Given the description of an element on the screen output the (x, y) to click on. 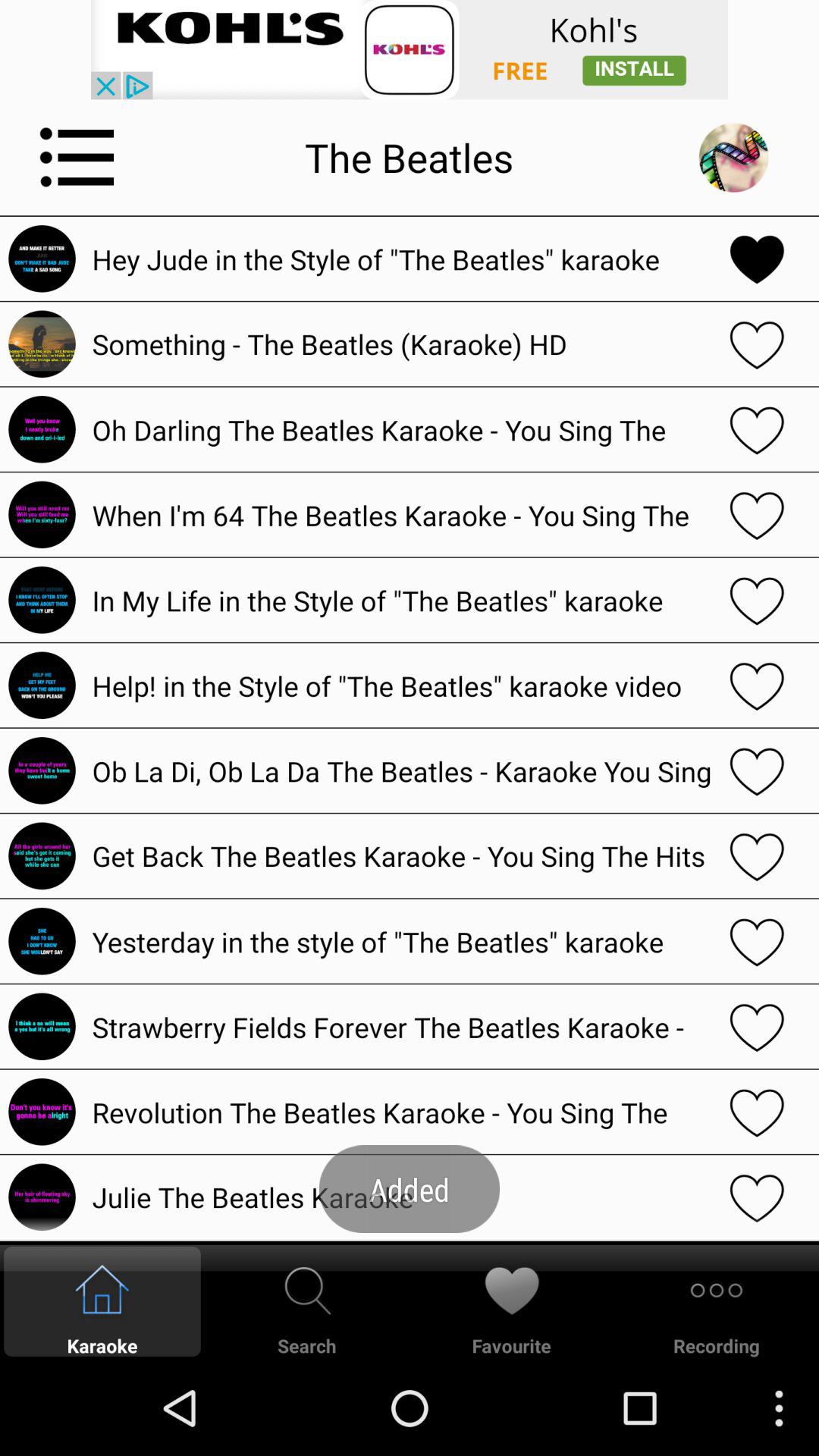
add to favourites (756, 1197)
